Given the description of an element on the screen output the (x, y) to click on. 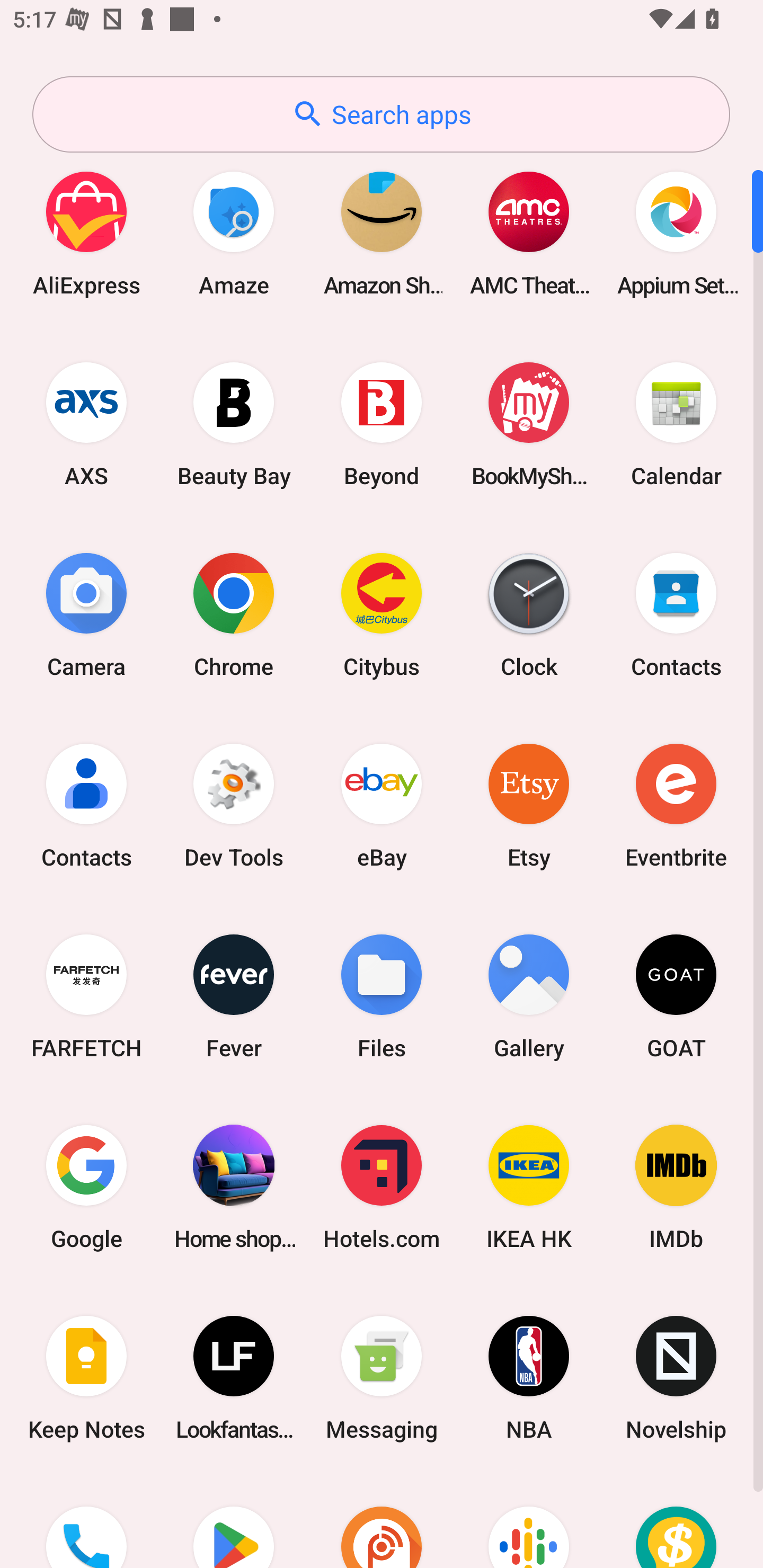
  Search apps (381, 114)
AliExpress (86, 233)
Amaze (233, 233)
Amazon Shopping (381, 233)
AMC Theatres (528, 233)
Appium Settings (676, 233)
AXS (86, 424)
Beauty Bay (233, 424)
Beyond (381, 424)
BookMyShow (528, 424)
Calendar (676, 424)
Camera (86, 614)
Chrome (233, 614)
Citybus (381, 614)
Clock (528, 614)
Contacts (676, 614)
Contacts (86, 805)
Dev Tools (233, 805)
eBay (381, 805)
Etsy (528, 805)
Eventbrite (676, 805)
FARFETCH (86, 996)
Fever (233, 996)
Files (381, 996)
Gallery (528, 996)
GOAT (676, 996)
Google (86, 1186)
Home shopping (233, 1186)
Hotels.com (381, 1186)
IKEA HK (528, 1186)
IMDb (676, 1186)
Keep Notes (86, 1377)
Lookfantastic (233, 1377)
Messaging (381, 1377)
NBA (528, 1377)
Novelship (676, 1377)
Phone (86, 1520)
Play Store (233, 1520)
Podcast Addict (381, 1520)
Podcasts (528, 1520)
Price (676, 1520)
